Given the description of an element on the screen output the (x, y) to click on. 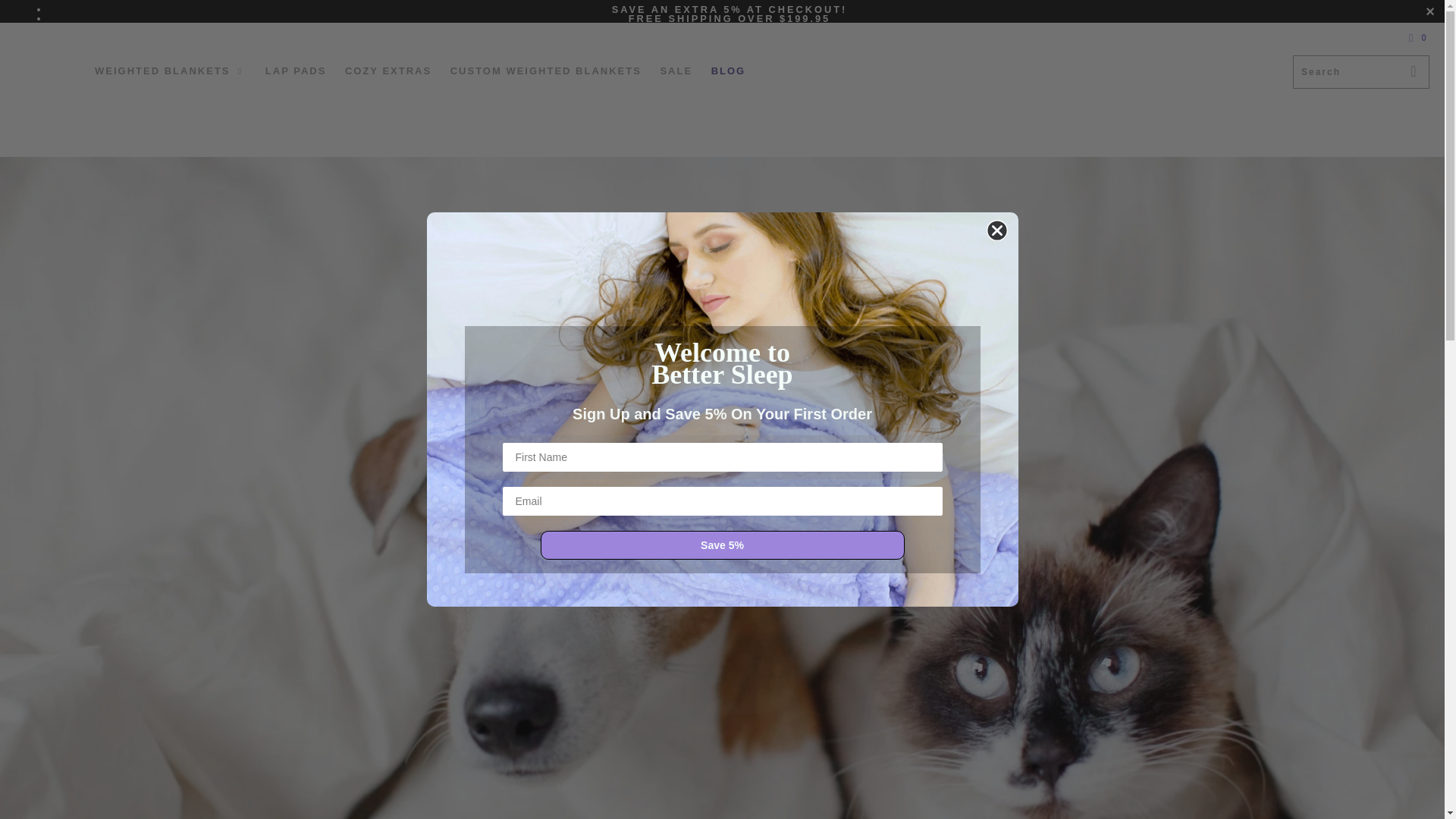
WEIGHTED BLANKETS (170, 71)
COZY EXTRAS (387, 71)
BLOG (728, 71)
LAP PADS (295, 71)
CUSTOM WEIGHTED BLANKETS (545, 71)
SALE (676, 71)
